Given the description of an element on the screen output the (x, y) to click on. 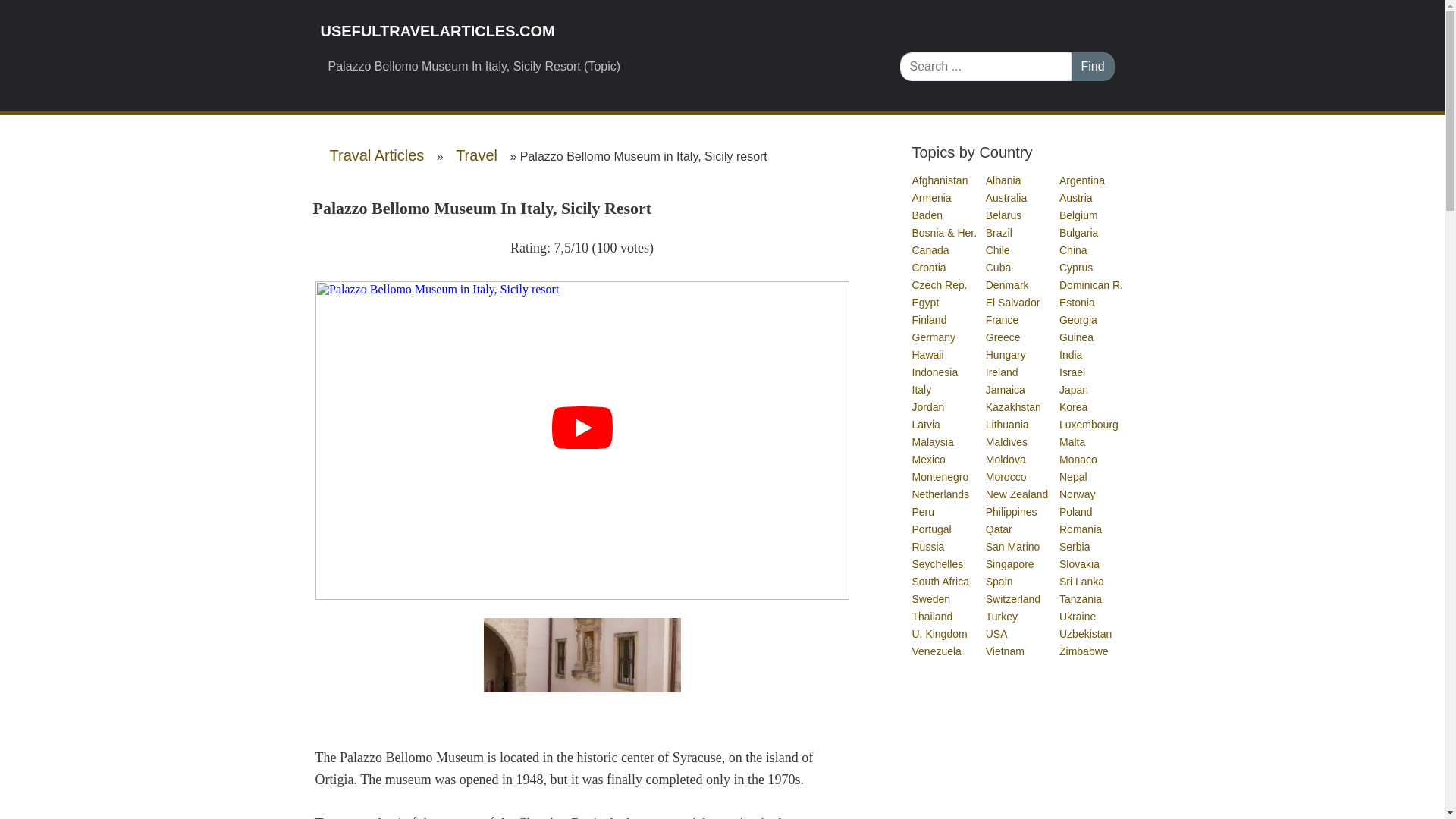
Germany (933, 337)
Cyprus (1076, 267)
Denmark (1007, 285)
Estonia (1077, 302)
Croatia (929, 267)
Dominican R. (1091, 285)
Bulgaria (1079, 232)
Egypt (925, 302)
Belarus (1004, 215)
France (1002, 319)
Czech Rep. (939, 285)
Travel (476, 155)
Finland (929, 319)
Traval Articles (376, 155)
